Given the description of an element on the screen output the (x, y) to click on. 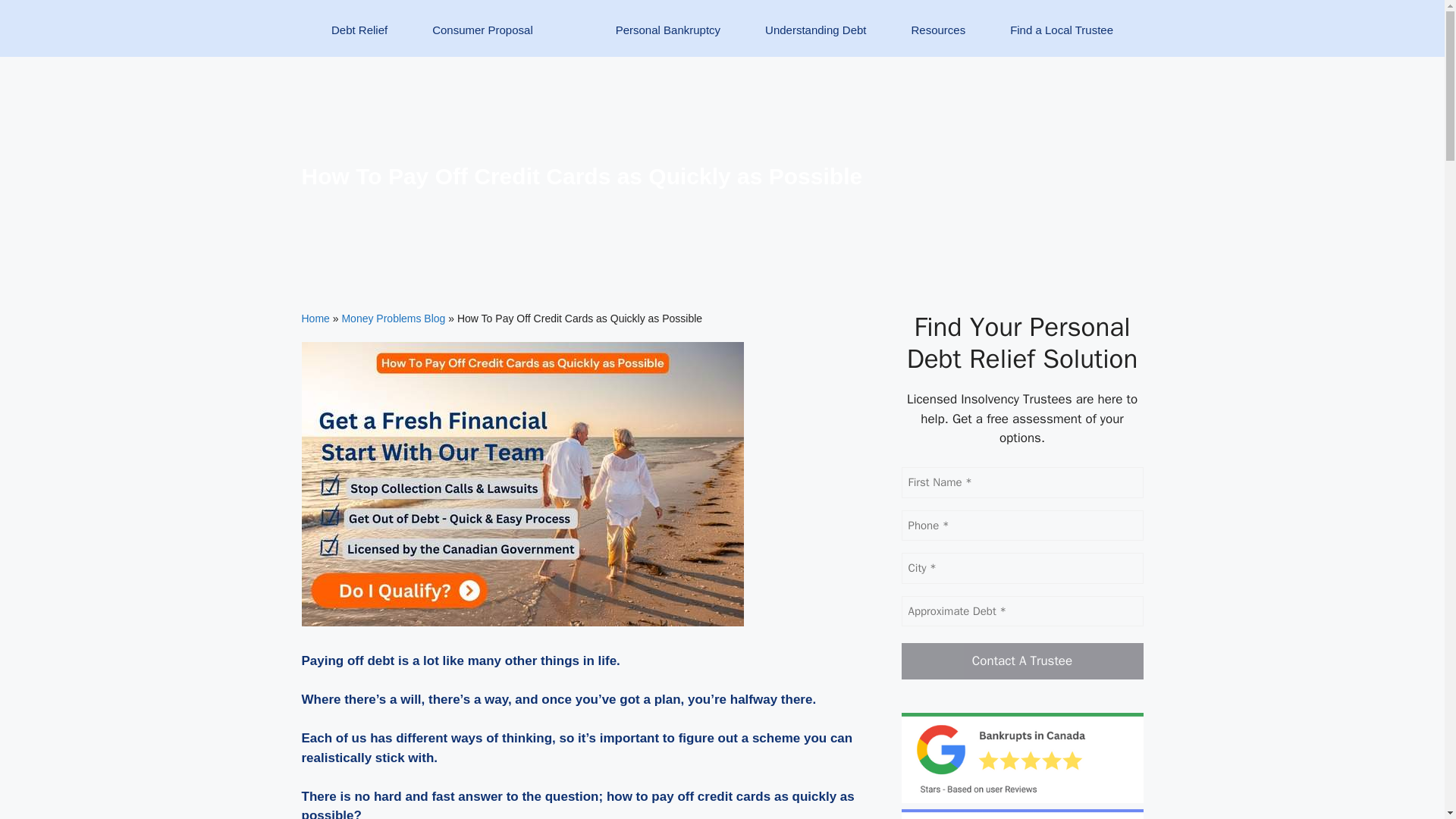
Contact A Trustee (1021, 660)
Debt Relief (359, 39)
Understanding Debt (815, 39)
Consumer Proposal (483, 39)
Resources (938, 39)
Personal Bankruptcy (667, 39)
Find a Local Trustee (1061, 39)
